Given the description of an element on the screen output the (x, y) to click on. 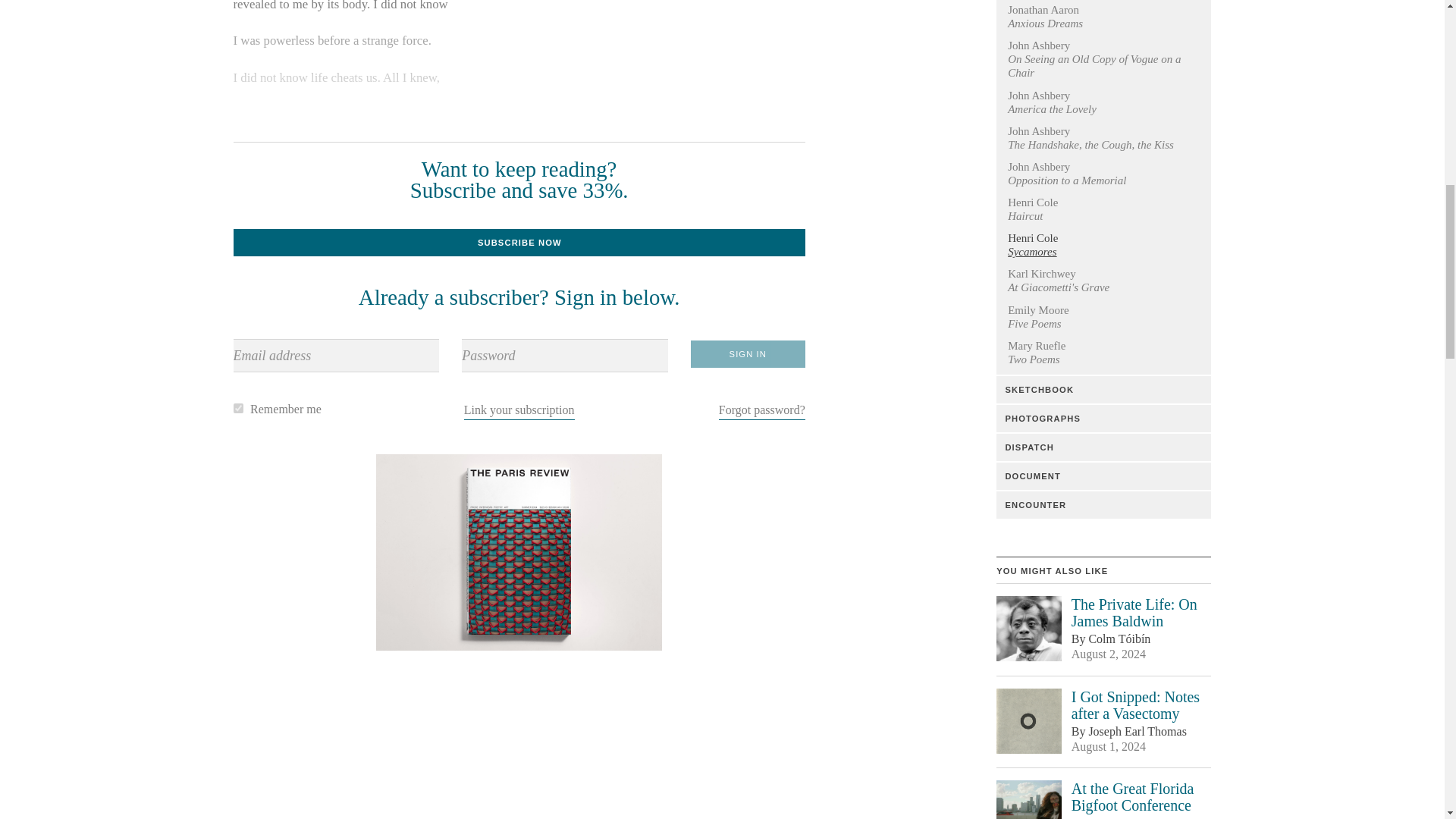
Sign In (747, 353)
remember (237, 408)
